Given the description of an element on the screen output the (x, y) to click on. 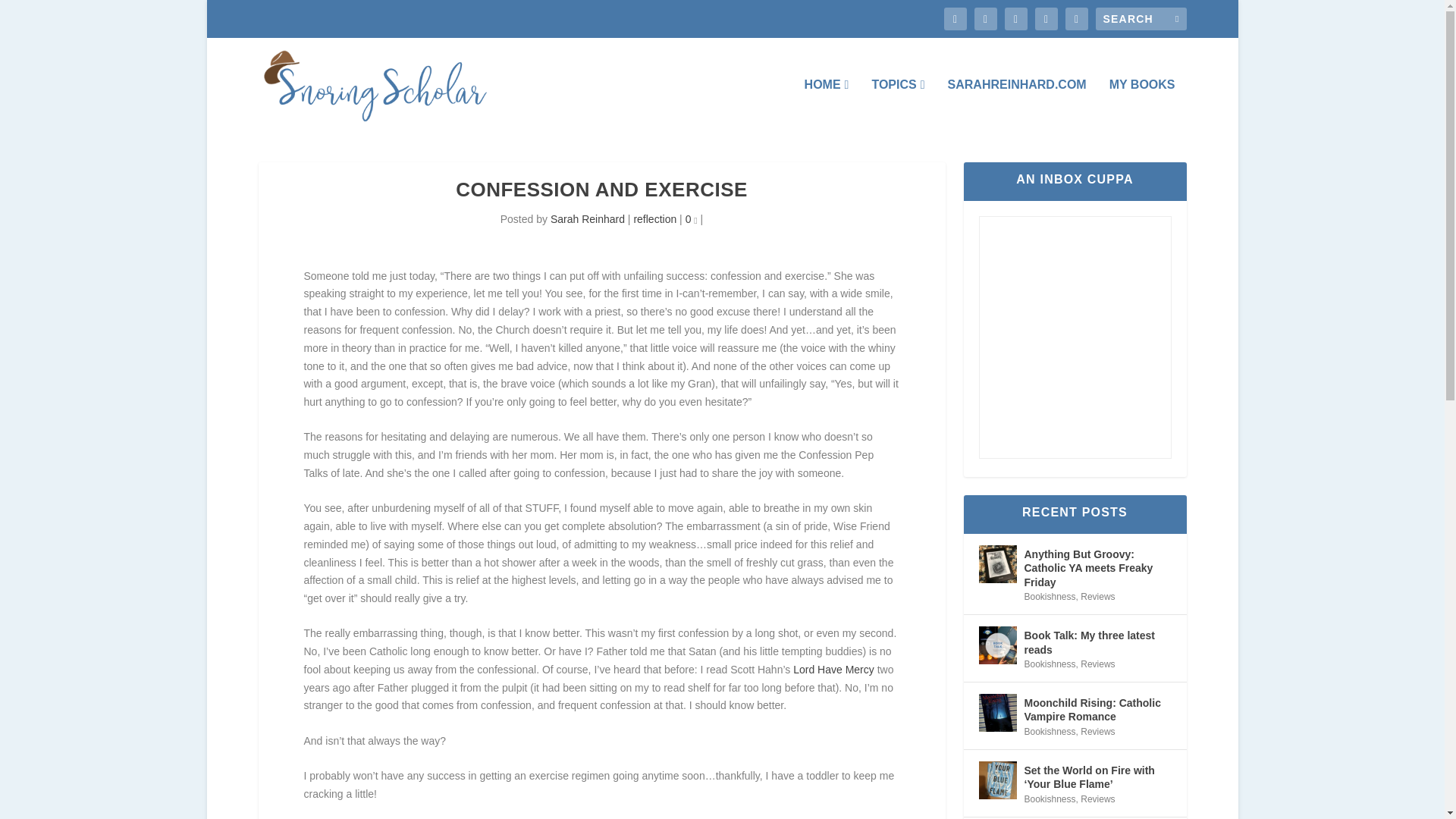
TOPICS (897, 104)
0 (691, 218)
reflection (655, 218)
Posts by Sarah Reinhard (587, 218)
Sarah Reinhard (587, 218)
Lord Have Mercy (834, 669)
